Given the description of an element on the screen output the (x, y) to click on. 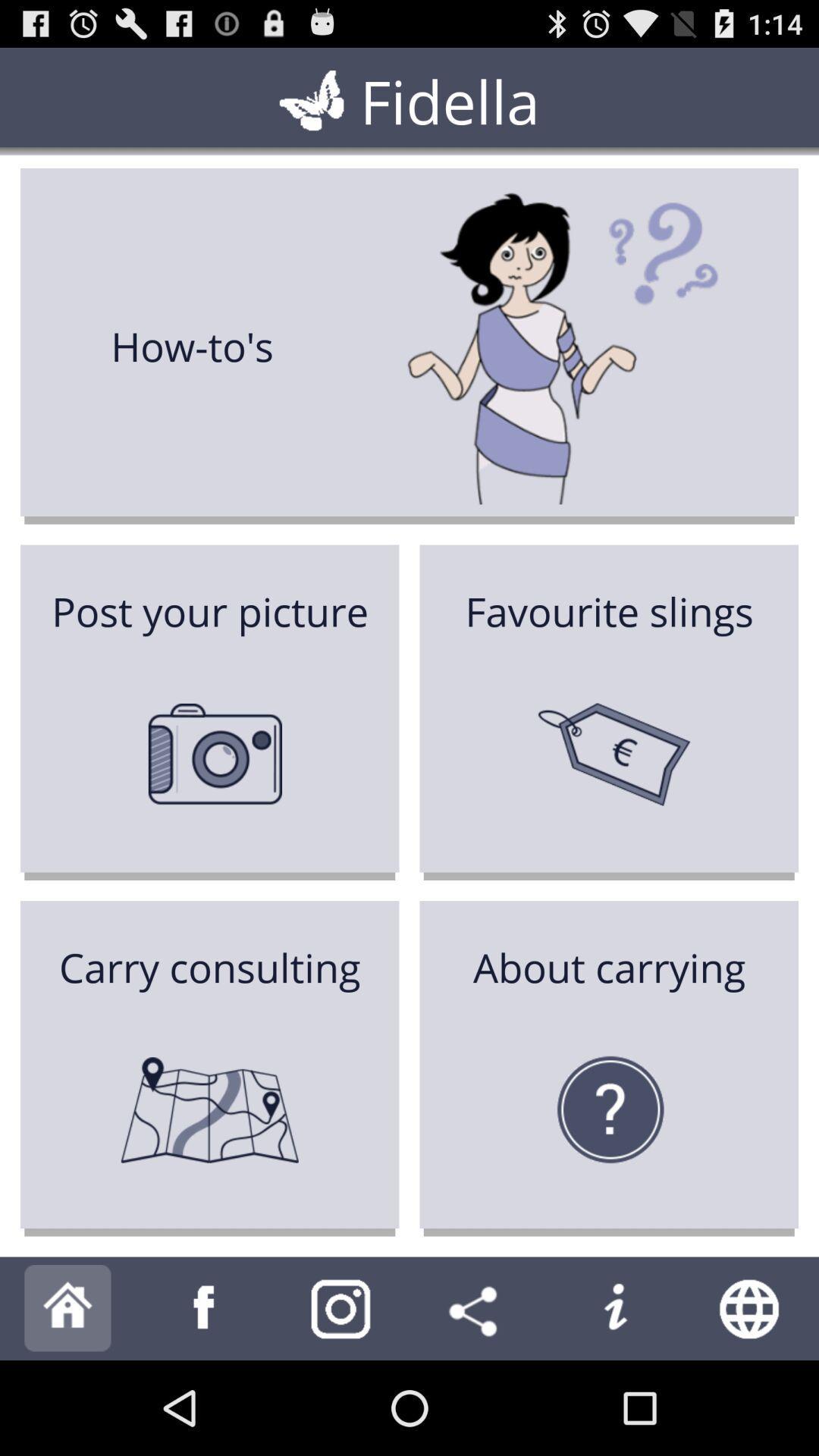
share to others (477, 1308)
